Given the description of an element on the screen output the (x, y) to click on. 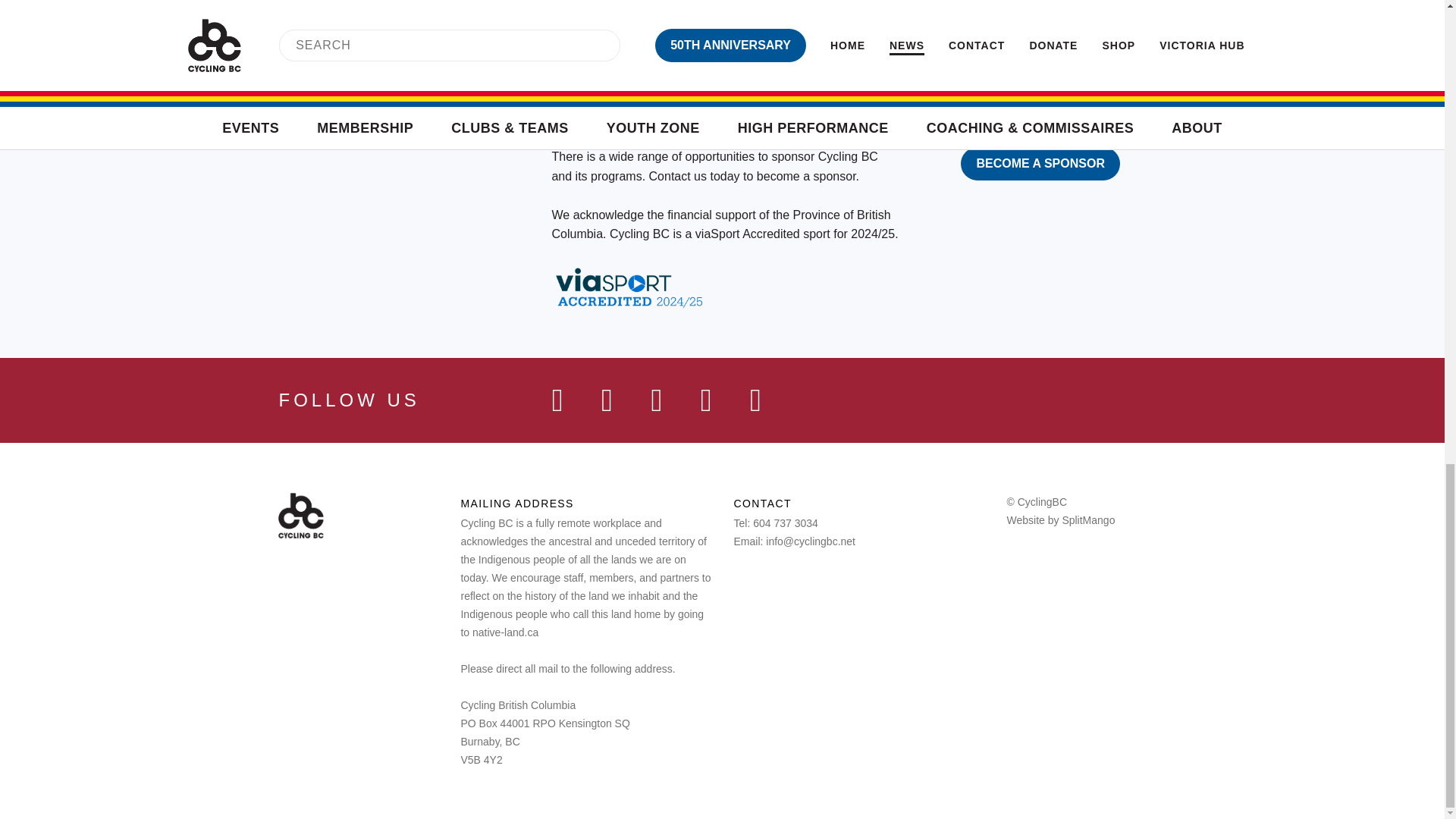
logo-viasport-min (609, 71)
jakroo-logo (759, 3)
Interpodia logo (1037, 7)
cycling-canada-logo-long (742, 71)
cbc-logo-2x (300, 515)
BCCC-short-logo-2020-web (947, 71)
Gallagher-Logo (898, 9)
bc-logo (836, 71)
